Given the description of an element on the screen output the (x, y) to click on. 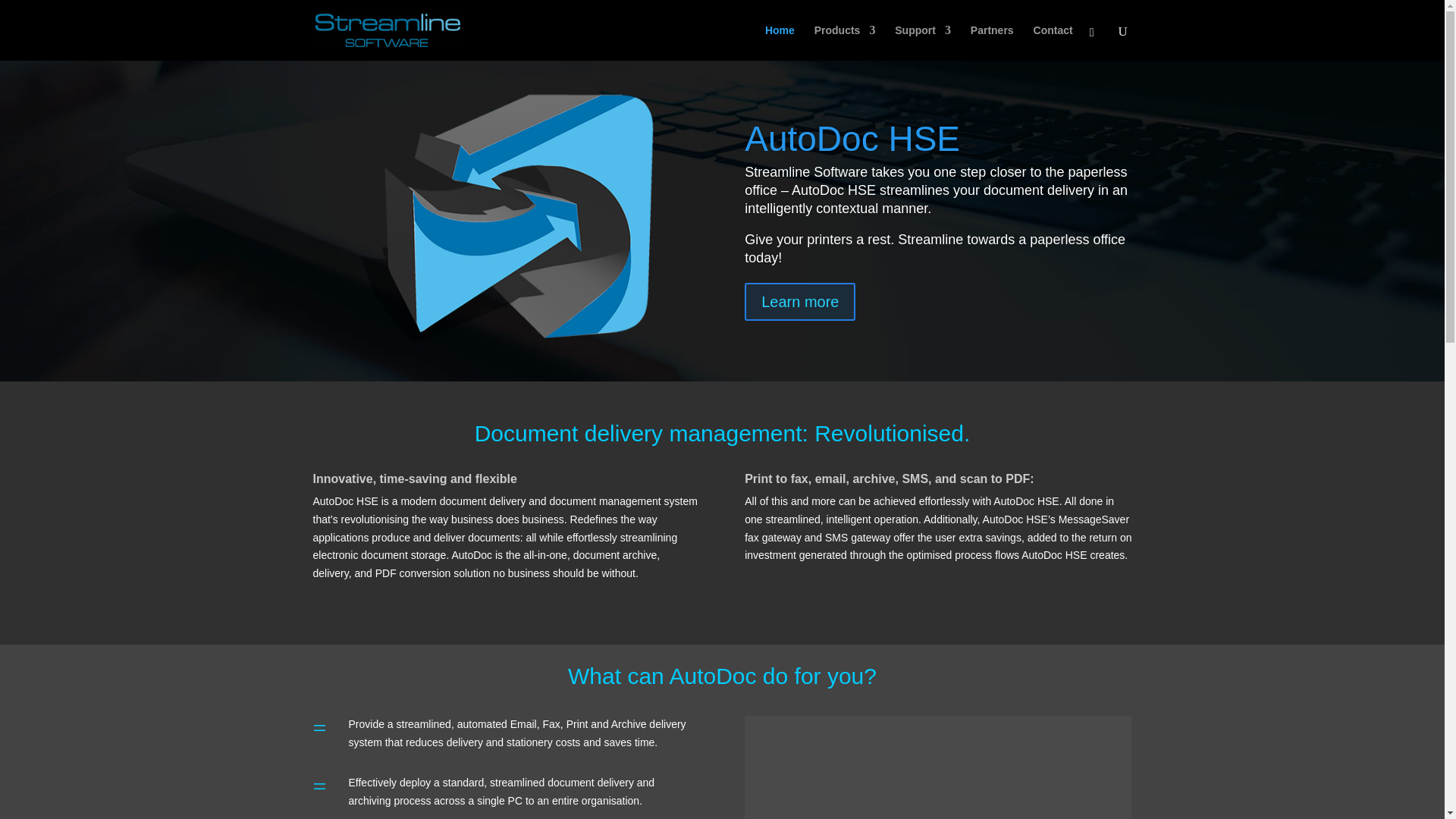
Contact (1053, 42)
Products (844, 42)
Support (922, 42)
Learn more (800, 331)
AutoDoc HSE (851, 169)
Partners (992, 42)
